Given the description of an element on the screen output the (x, y) to click on. 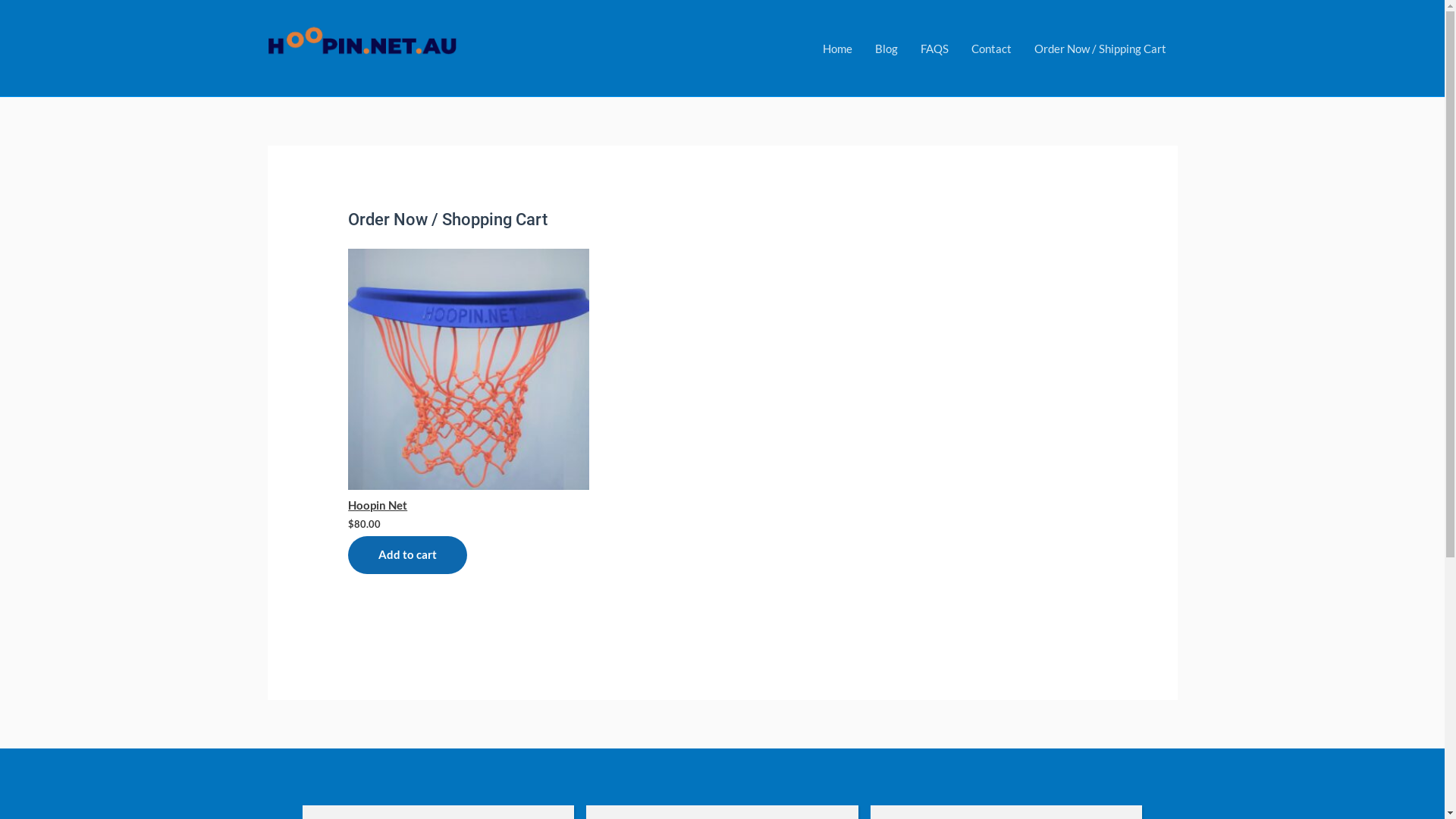
Add to cart Element type: text (407, 555)
Contact Element type: text (991, 47)
Order Now / Shipping Cart Element type: text (1099, 47)
Blog Element type: text (885, 47)
Hoopin Net Element type: text (468, 380)
FAQS Element type: text (933, 47)
Home Element type: text (837, 47)
